Given the description of an element on the screen output the (x, y) to click on. 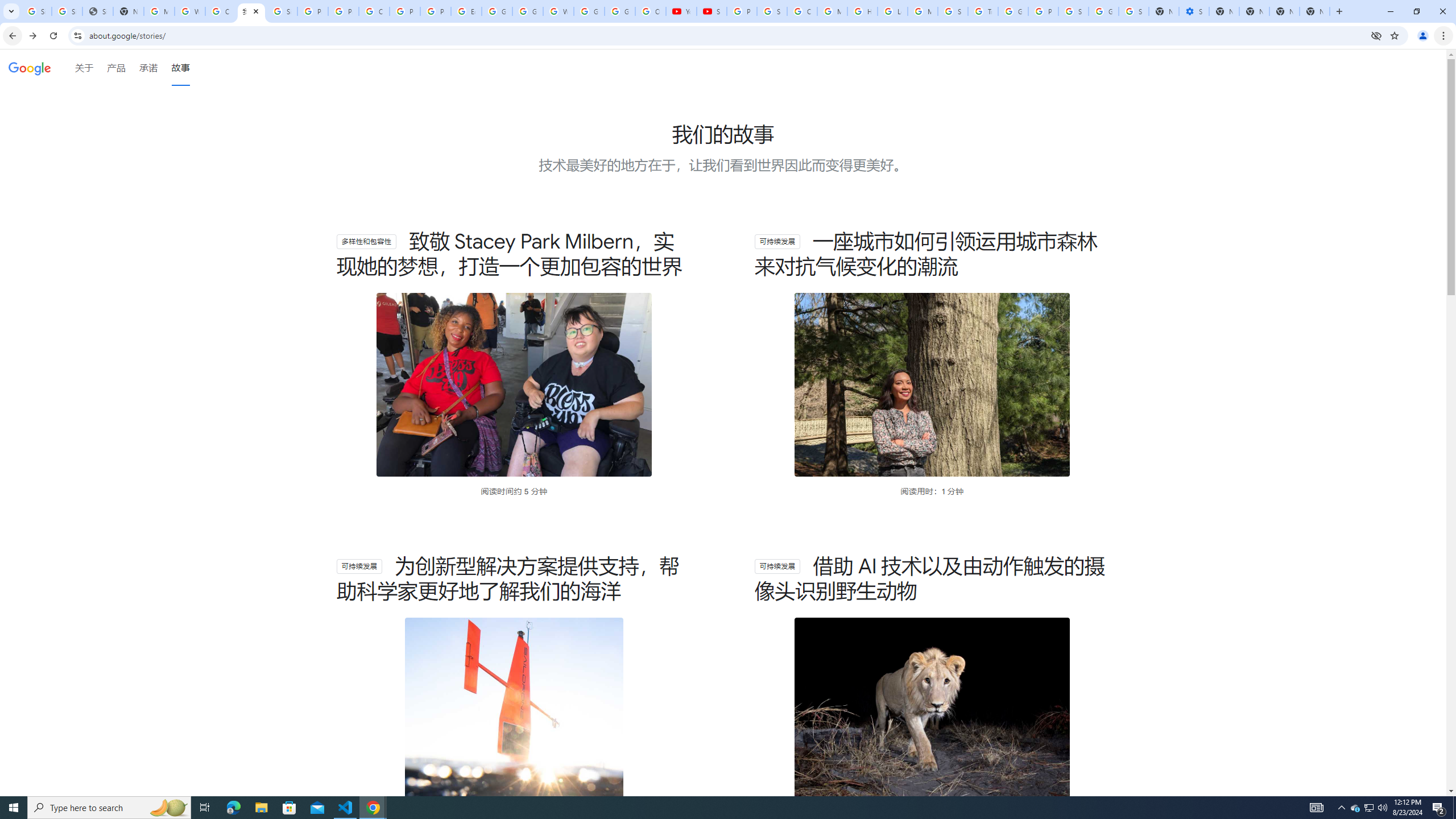
Search our Doodle Library Collection - Google Doodles (952, 11)
Sign In - USA TODAY (97, 11)
Trusted Information and Content - Google Safety Center (982, 11)
Who is my administrator? - Google Account Help (189, 11)
